Given the description of an element on the screen output the (x, y) to click on. 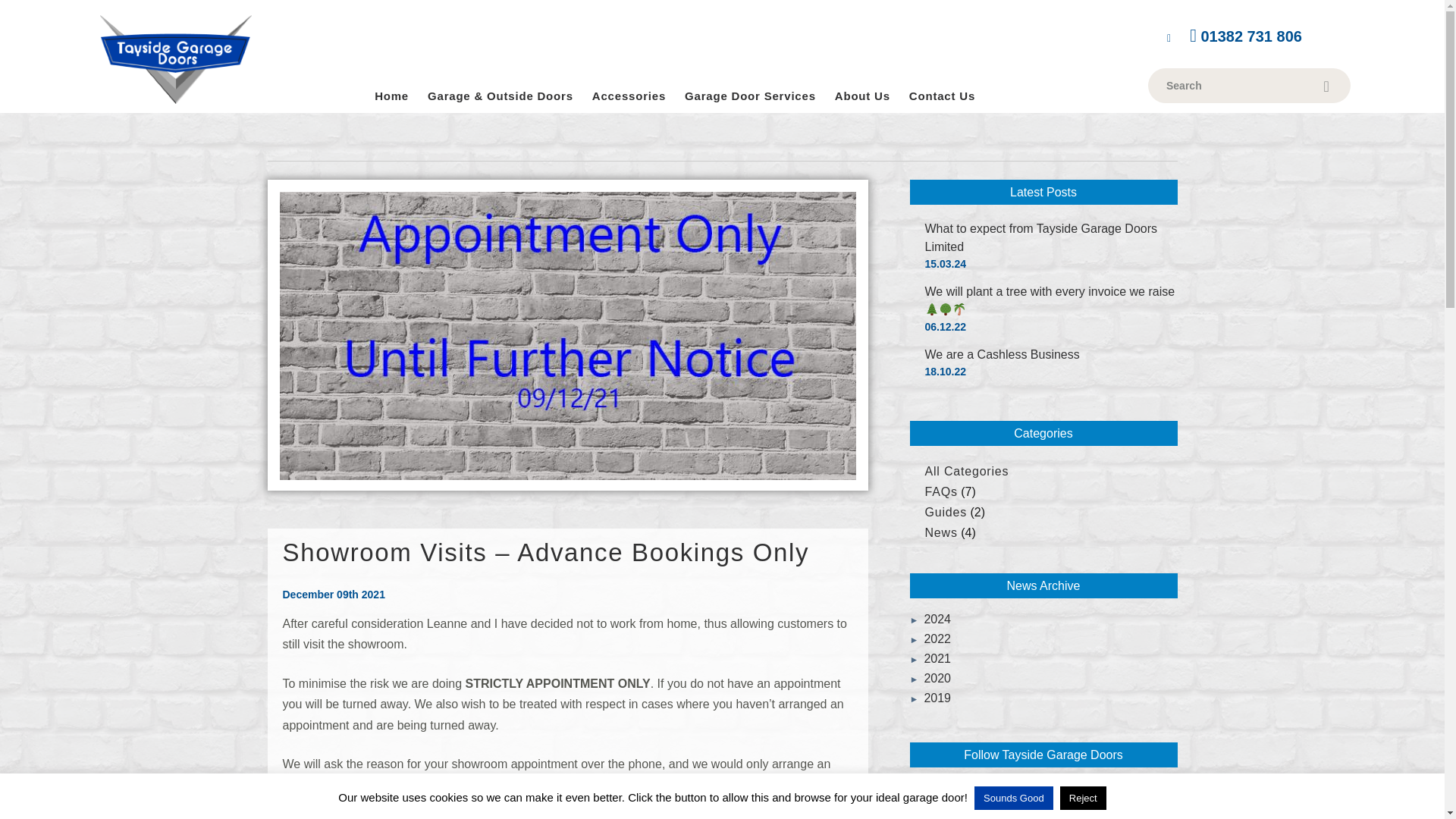
Contact Us (941, 95)
click to expand (917, 618)
click to expand (917, 658)
Search (1234, 85)
01382 731 806 (1241, 35)
About Us (861, 95)
Accessories (628, 95)
click to expand (917, 697)
click to expand (917, 677)
Garage Door Services (749, 95)
Home (391, 95)
click to expand (917, 638)
